Given the description of an element on the screen output the (x, y) to click on. 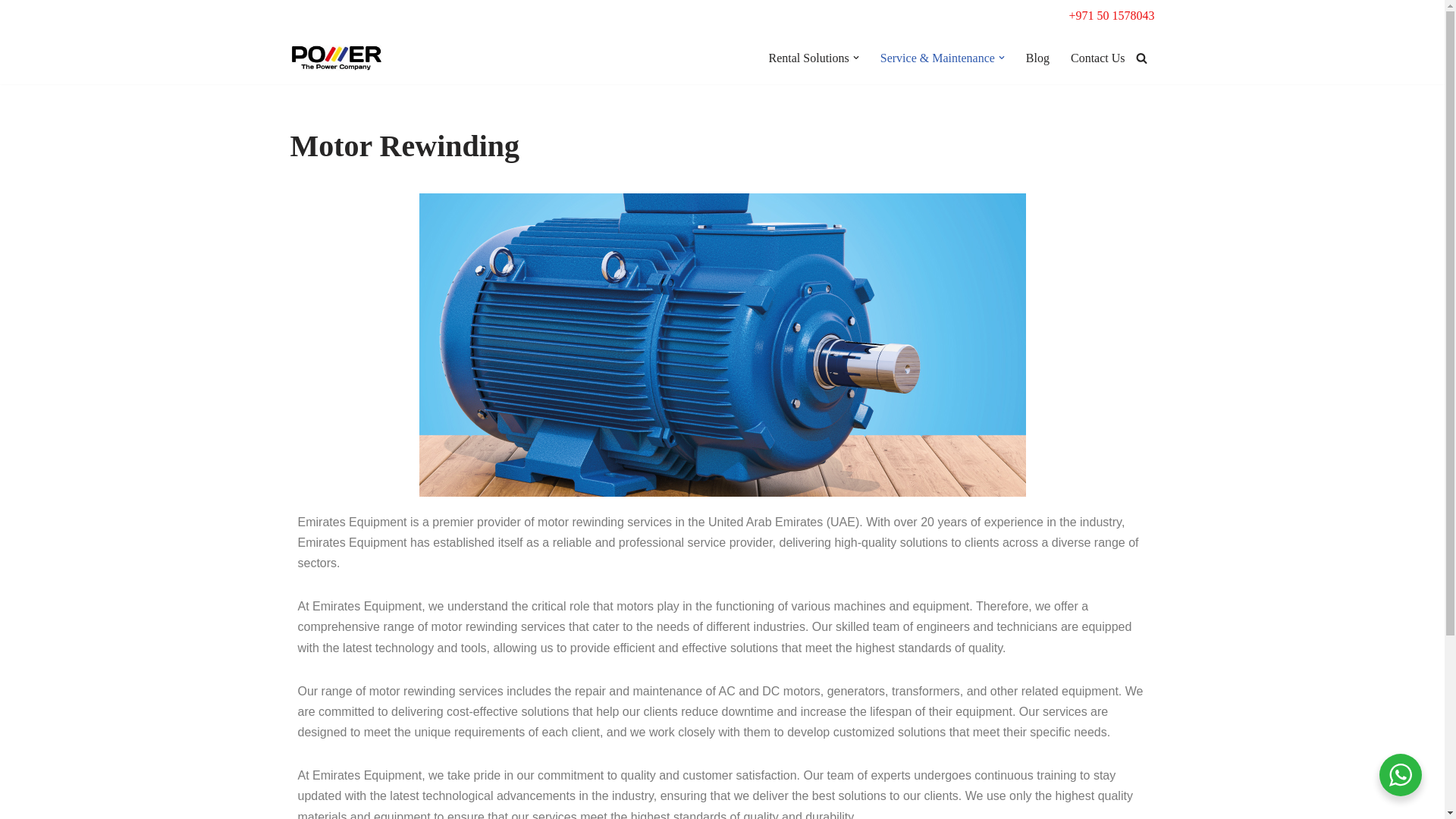
Blog (1037, 57)
Contact Us (1097, 57)
Rental Solutions (808, 57)
Skip to content (11, 31)
